Given the description of an element on the screen output the (x, y) to click on. 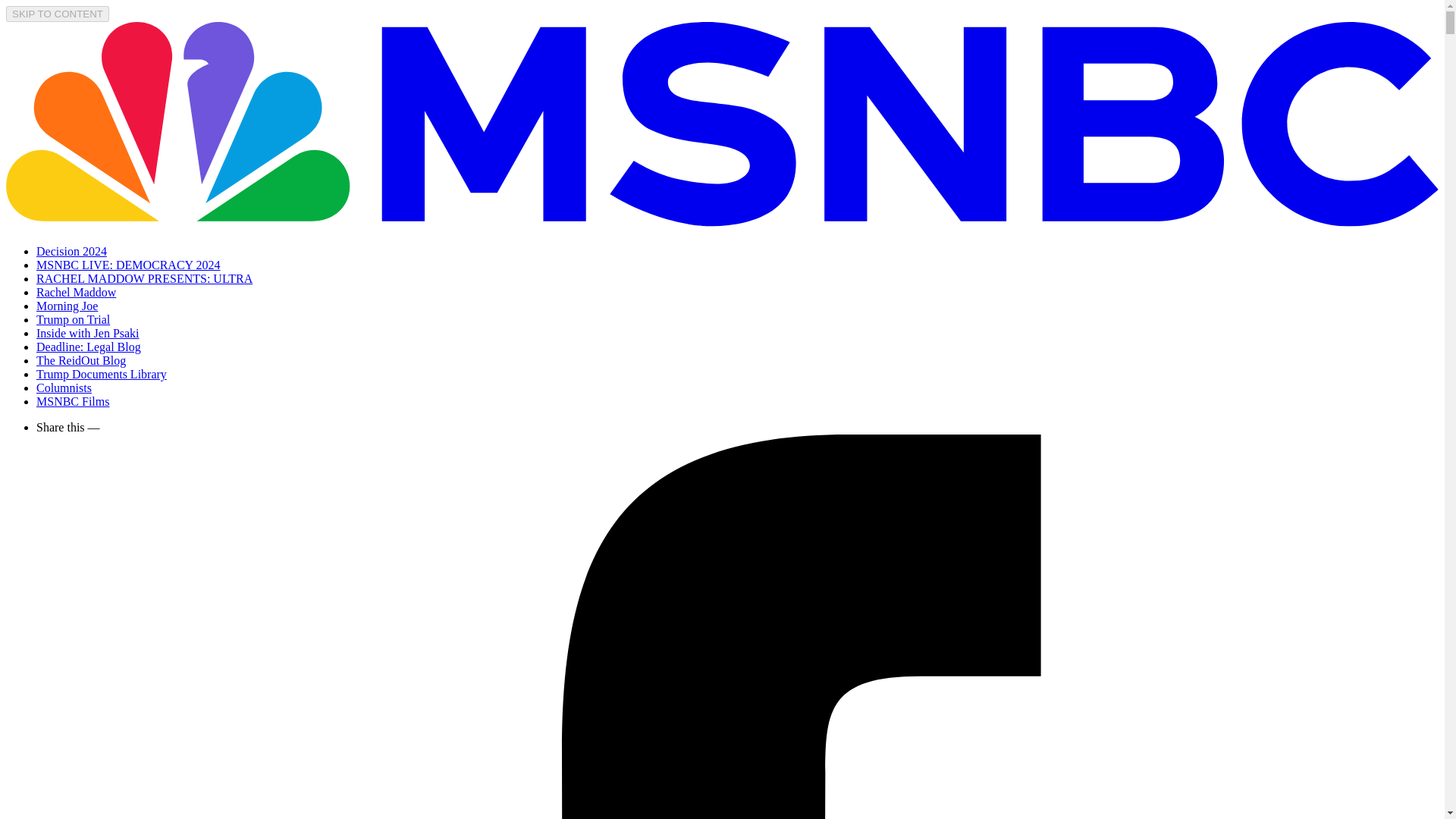
Morning Joe (66, 305)
SKIP TO CONTENT (57, 13)
MSNBC Films (72, 400)
Deadline: Legal Blog (88, 346)
Columnists (63, 387)
Trump Documents Library (101, 373)
Inside with Jen Psaki (87, 332)
Rachel Maddow (76, 291)
Trump on Trial (73, 318)
RACHEL MADDOW PRESENTS: ULTRA (143, 278)
